Given the description of an element on the screen output the (x, y) to click on. 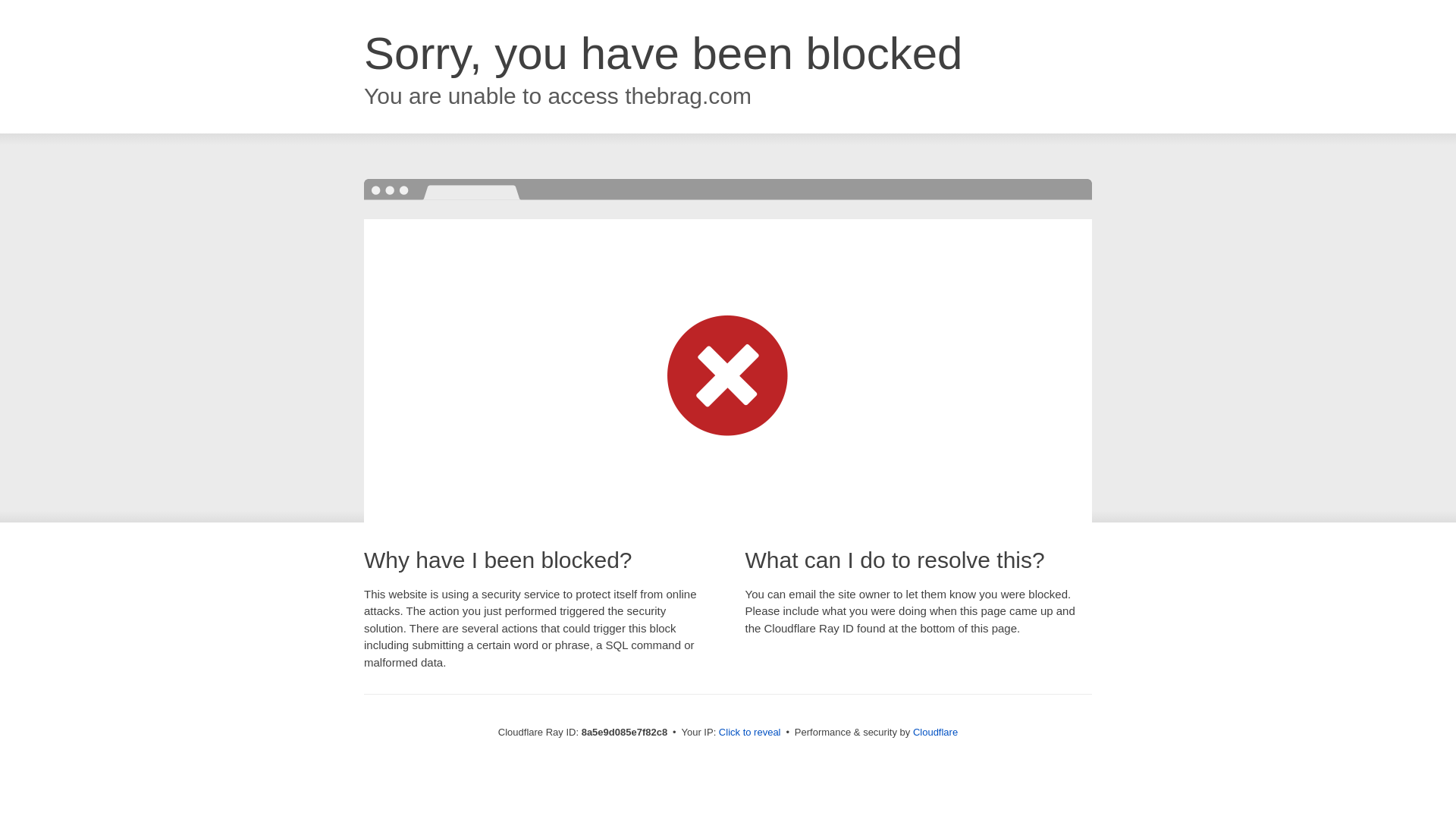
Click to reveal (749, 732)
Cloudflare (935, 731)
